Given the description of an element on the screen output the (x, y) to click on. 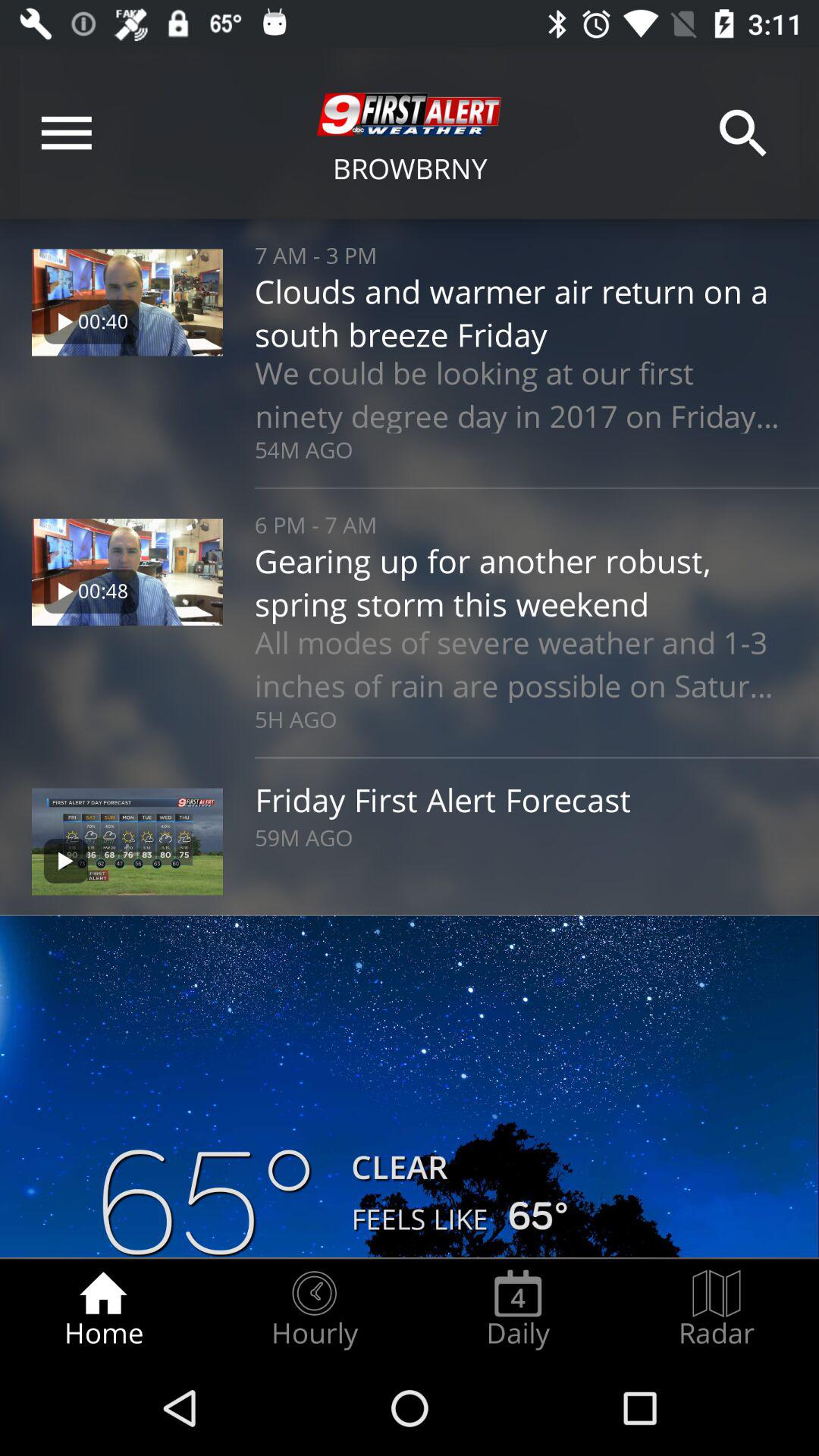
click hourly radio button (314, 1309)
